Given the description of an element on the screen output the (x, y) to click on. 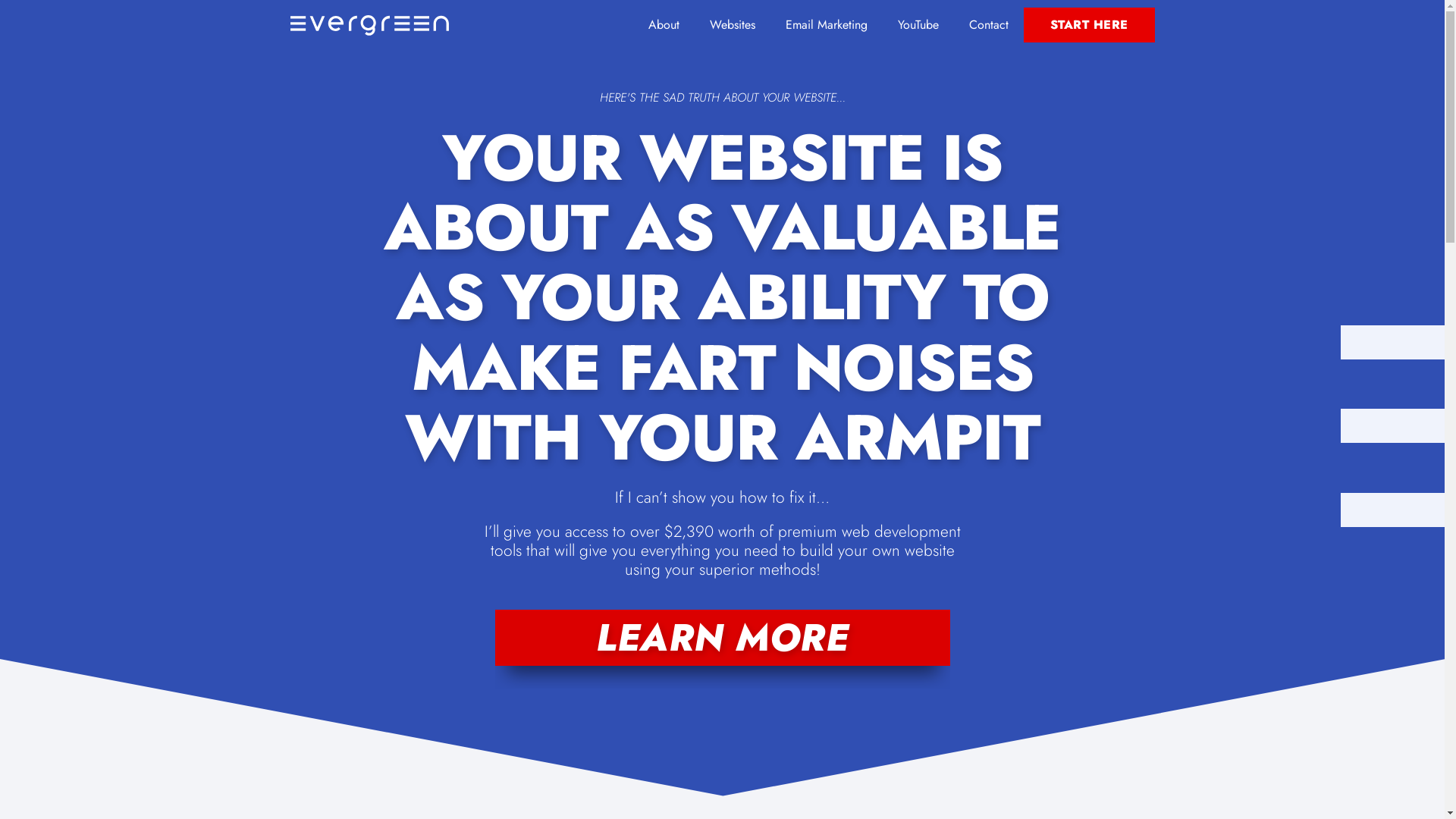
START HERE Element type: text (1088, 24)
Email Marketing Element type: text (826, 24)
Contact Element type: text (988, 24)
YouTube Element type: text (917, 24)
LEARN MORE Element type: text (721, 637)
Websites Element type: text (732, 24)
About Element type: text (662, 24)
